Given the description of an element on the screen output the (x, y) to click on. 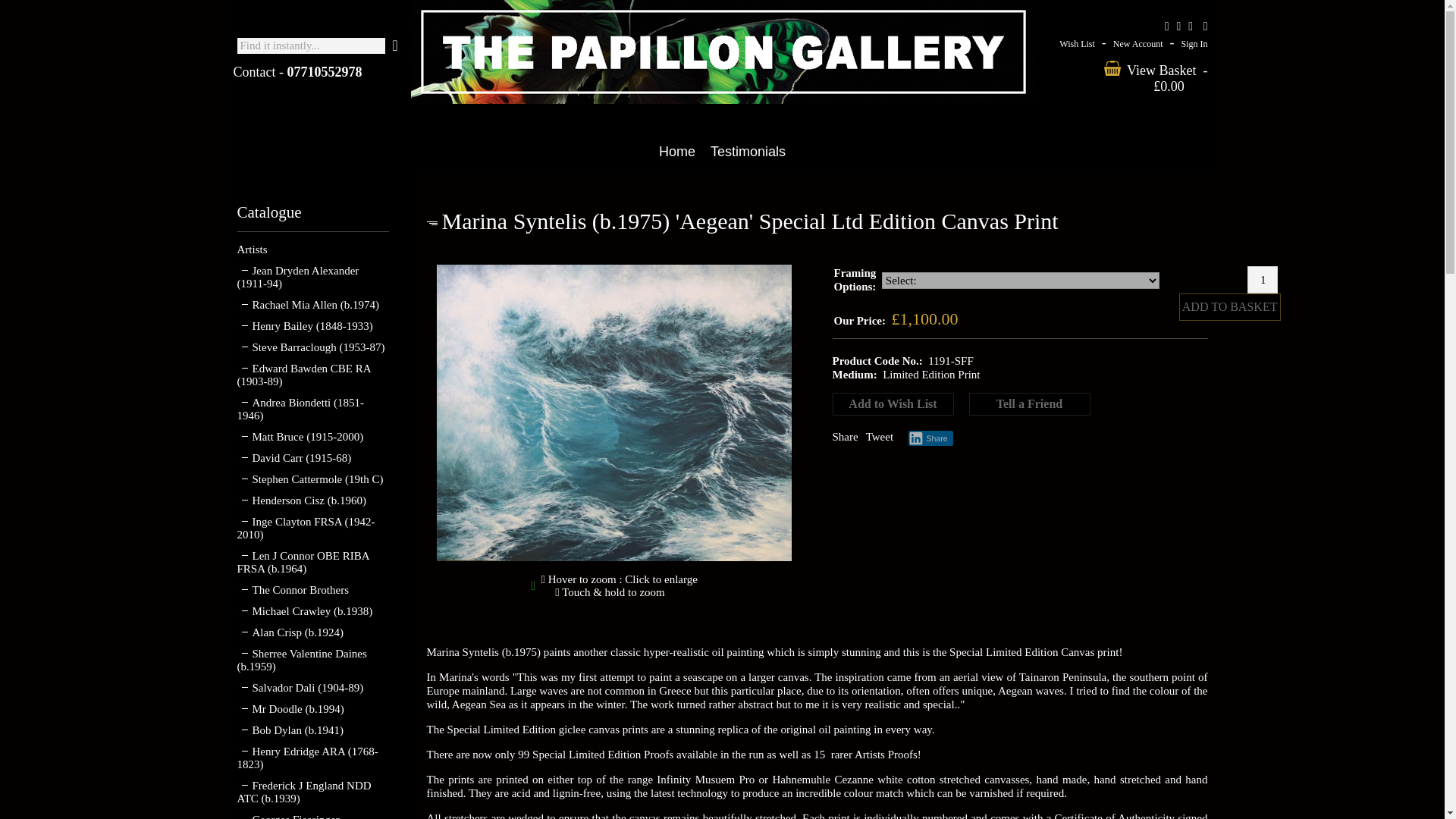
Georges Fiessinger (287, 816)
Artists (250, 249)
1 (1262, 279)
The Connor Brothers (291, 589)
